Given the description of an element on the screen output the (x, y) to click on. 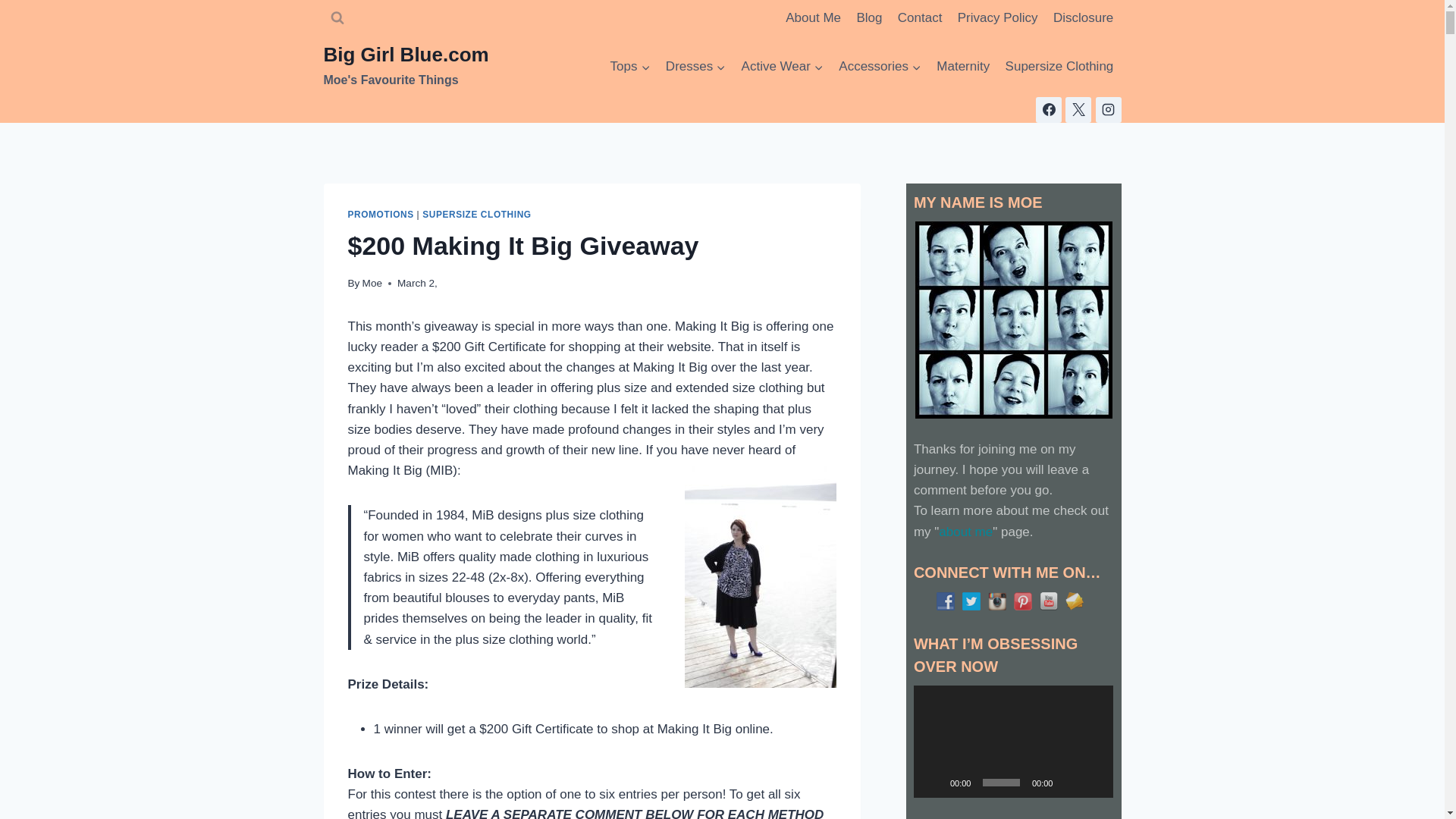
Accessories (879, 66)
Maternity (962, 66)
Active Wear (782, 66)
Tops (630, 66)
Blog (868, 18)
Plus Size Tops (630, 66)
Moe (371, 283)
Plus Size Active Wear (782, 66)
Privacy Policy (997, 18)
About Me (812, 18)
